Given the description of an element on the screen output the (x, y) to click on. 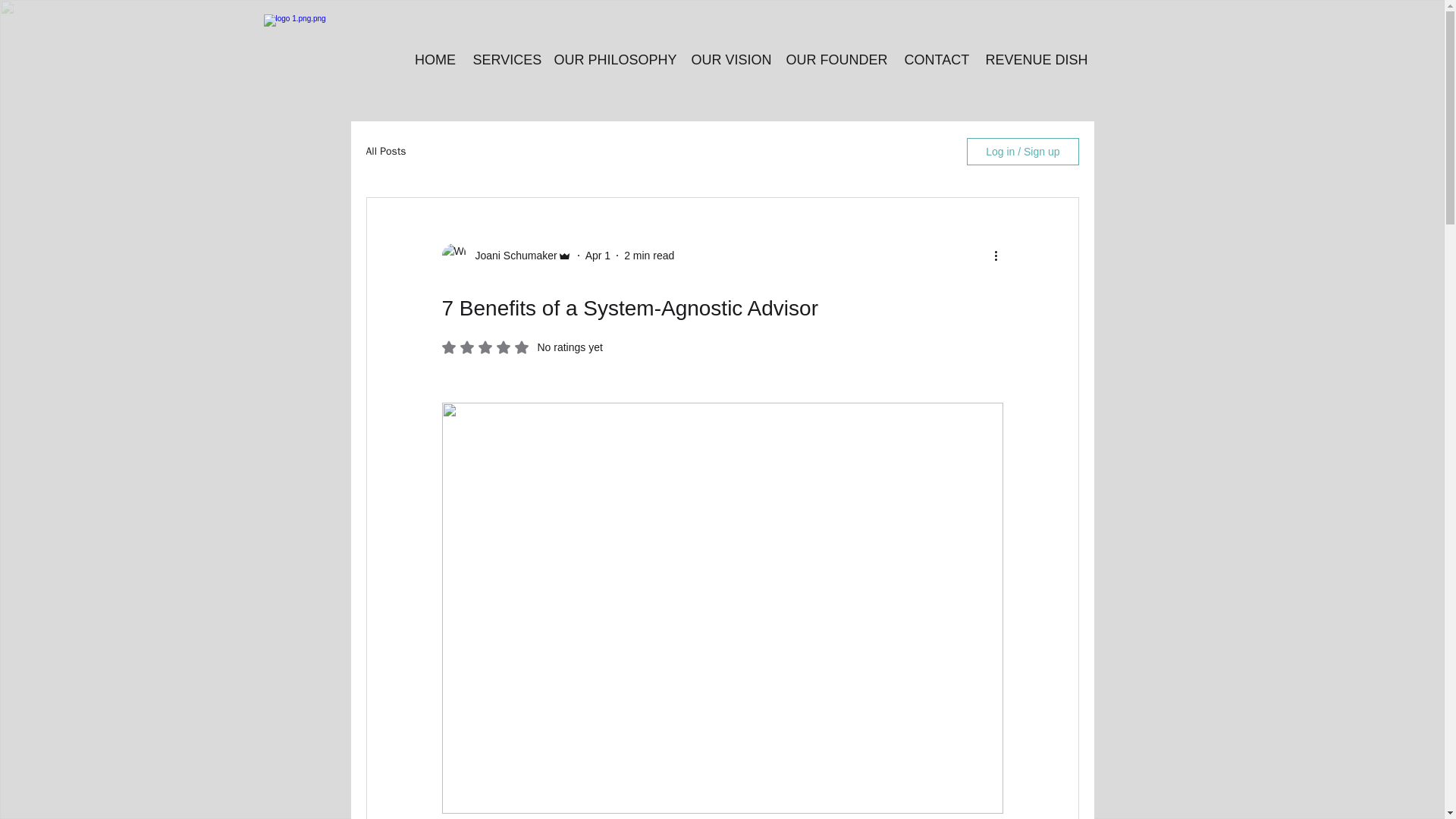
Apr 1 (521, 346)
OUR PHILOSOPHY (597, 254)
OUR VISION (614, 59)
CONTACT (729, 59)
SERVICES (936, 59)
OUR FOUNDER (504, 59)
All Posts (836, 59)
HOME (385, 151)
2 min read (435, 59)
